Given the description of an element on the screen output the (x, y) to click on. 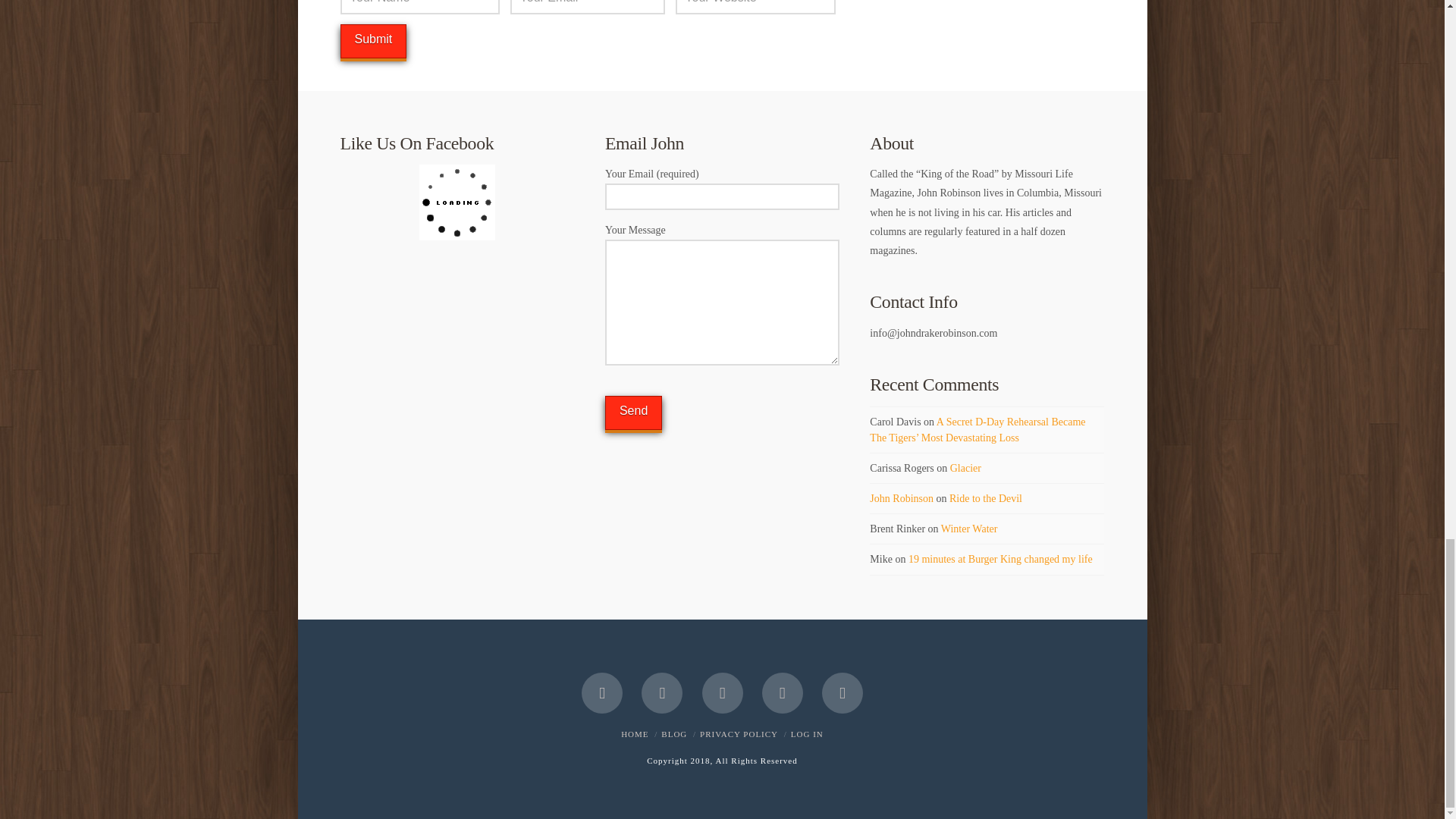
RSS (842, 692)
Send (633, 412)
Submit (372, 41)
YouTube (782, 692)
Facebook (601, 692)
Submit (372, 41)
Twitter (662, 692)
LinkedIn (721, 692)
